Given the description of an element on the screen output the (x, y) to click on. 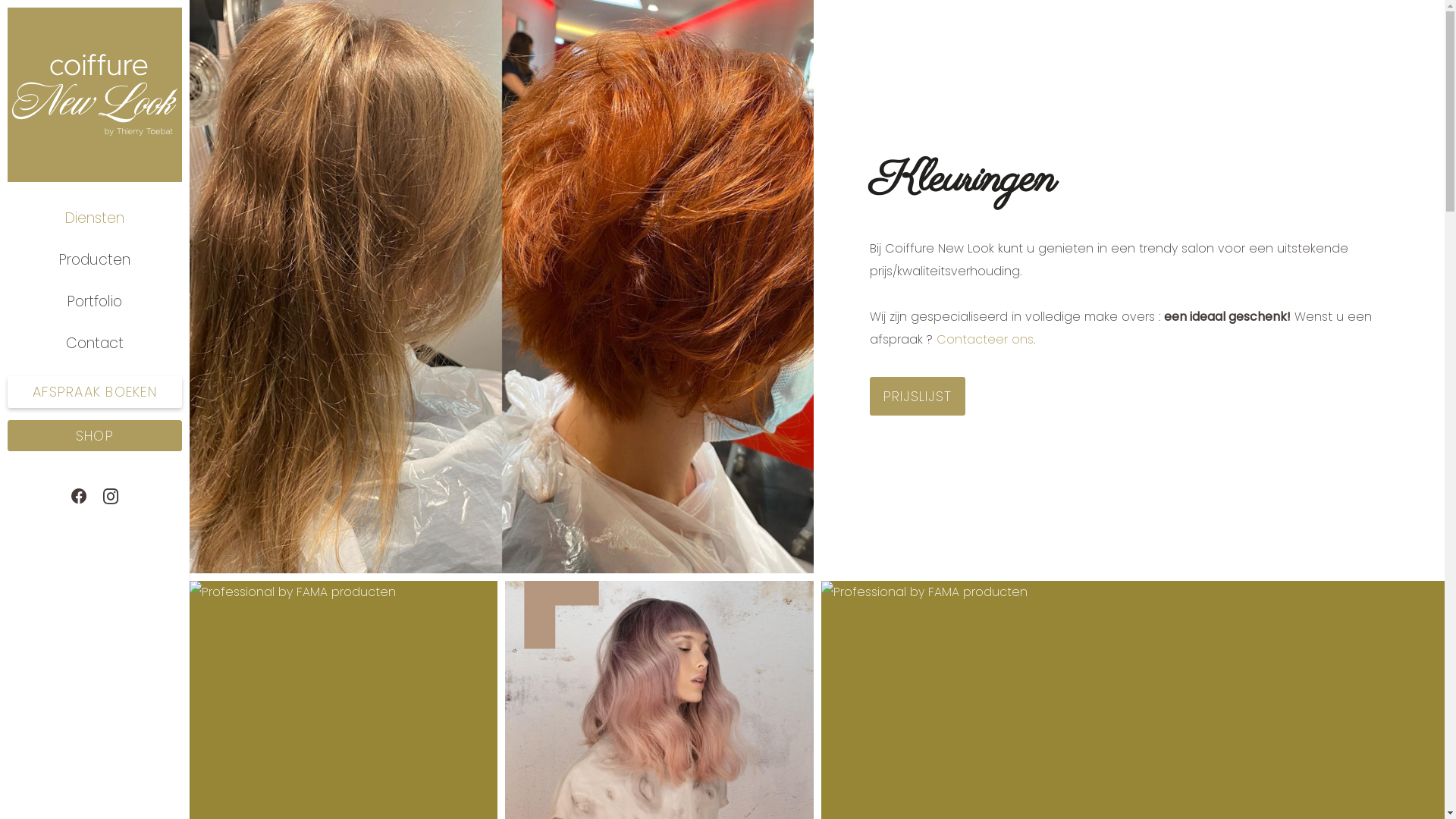
Instagram Element type: hover (110, 496)
Diensten Element type: text (94, 217)
Contacteer ons Element type: text (983, 339)
SHOP Element type: text (94, 435)
Producten Element type: text (94, 259)
PRIJSLIJST Element type: text (917, 395)
Portfolio Element type: text (94, 301)
Facebook Element type: hover (78, 496)
Contact Element type: text (94, 343)
AFSPRAAK BOEKEN Element type: text (94, 391)
